Given the description of an element on the screen output the (x, y) to click on. 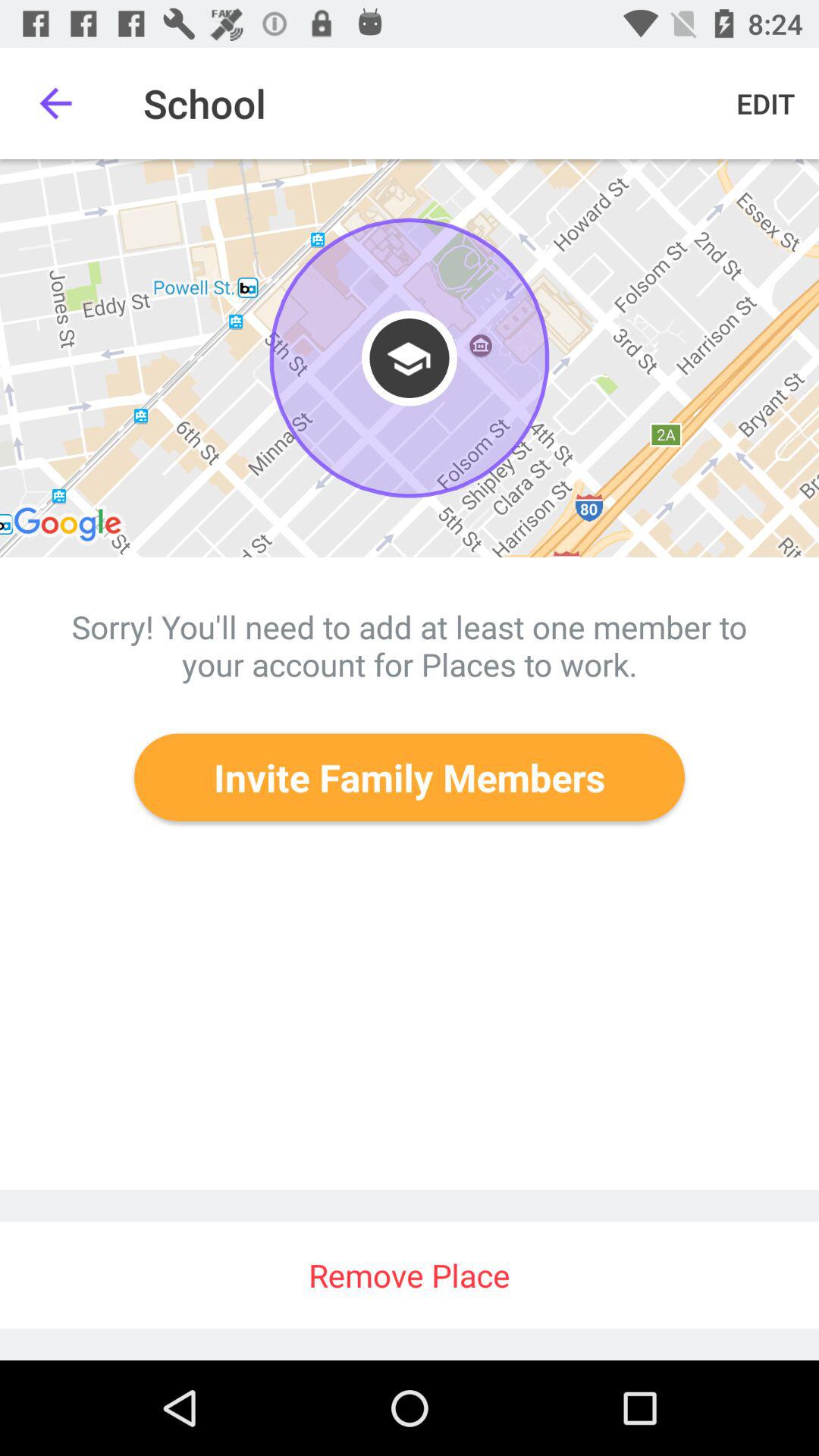
turn off the icon at the top right corner (765, 103)
